Given the description of an element on the screen output the (x, y) to click on. 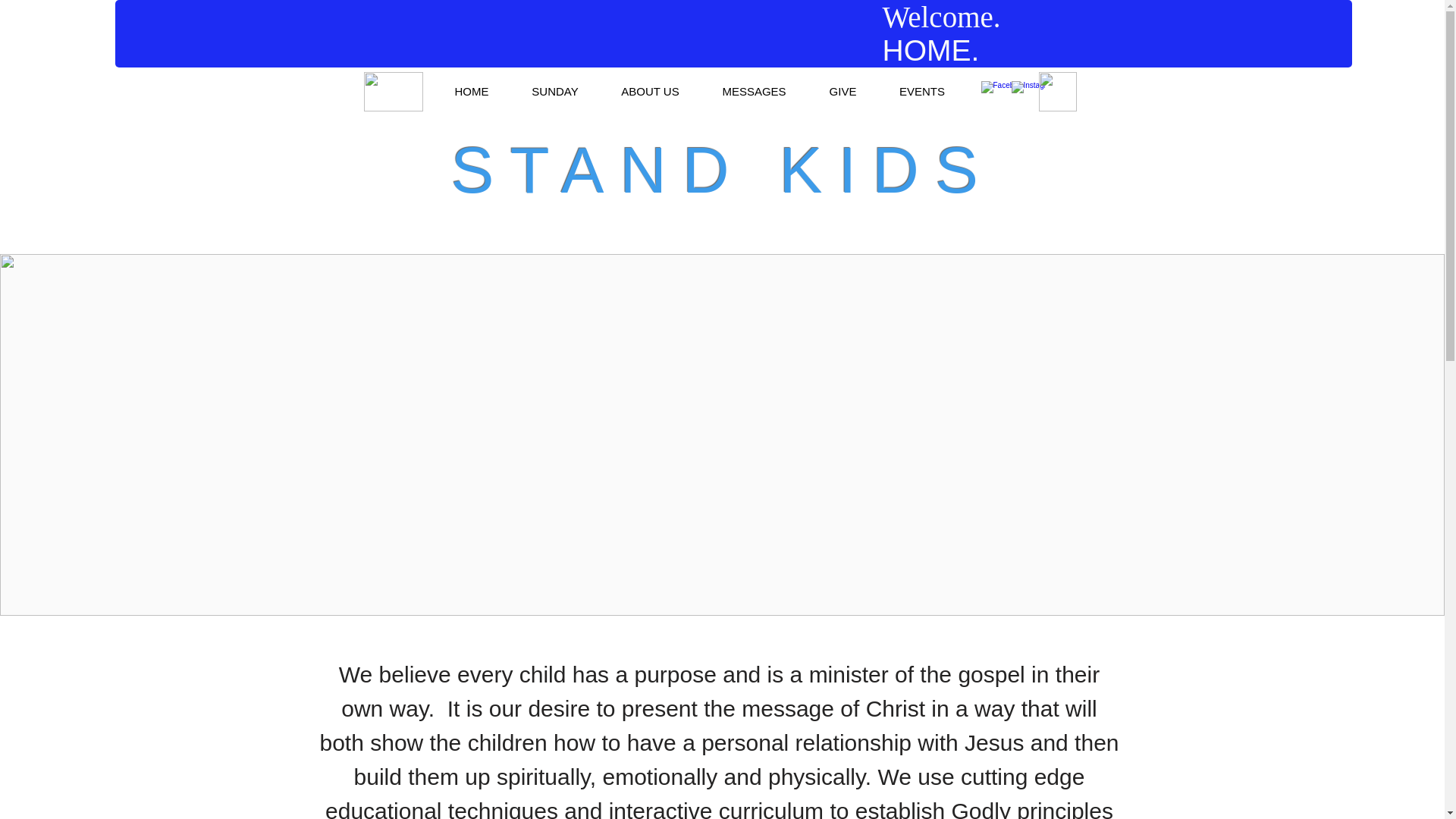
SUNDAY (555, 91)
ABOUT US (649, 91)
EVENTS (921, 91)
HOME (472, 91)
GIVE (842, 91)
MESSAGES (753, 91)
